Given the description of an element on the screen output the (x, y) to click on. 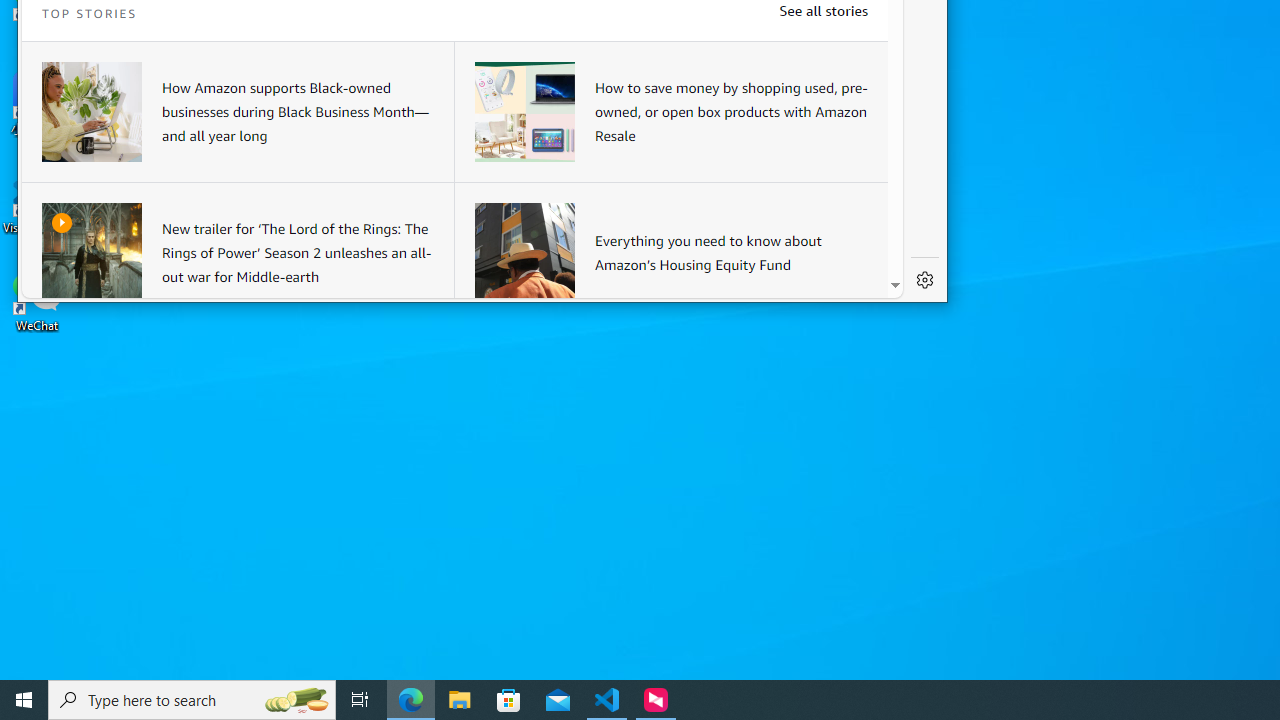
See all stories (823, 10)
Task View (359, 699)
A woman sitting at a desk working on a laptop device. (92, 111)
Microsoft Edge - 1 running window (411, 699)
A woman sitting at a desk working on a laptop device. (92, 111)
Microsoft Store (509, 699)
